Given the description of an element on the screen output the (x, y) to click on. 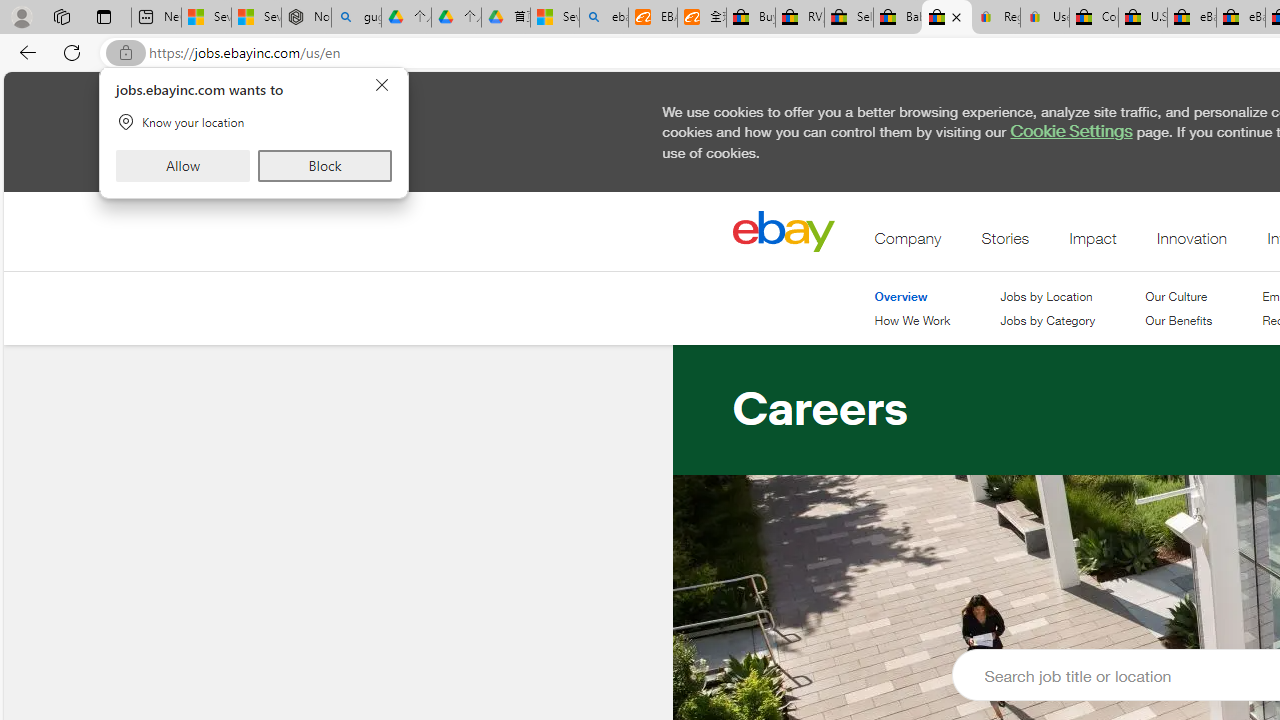
U.S. State Privacy Disclosures - eBay Inc. (1142, 17)
Jobs by Category (1047, 321)
Sell worldwide with eBay (848, 17)
Class: desktop (783, 231)
Stories (1005, 243)
